Given the description of an element on the screen output the (x, y) to click on. 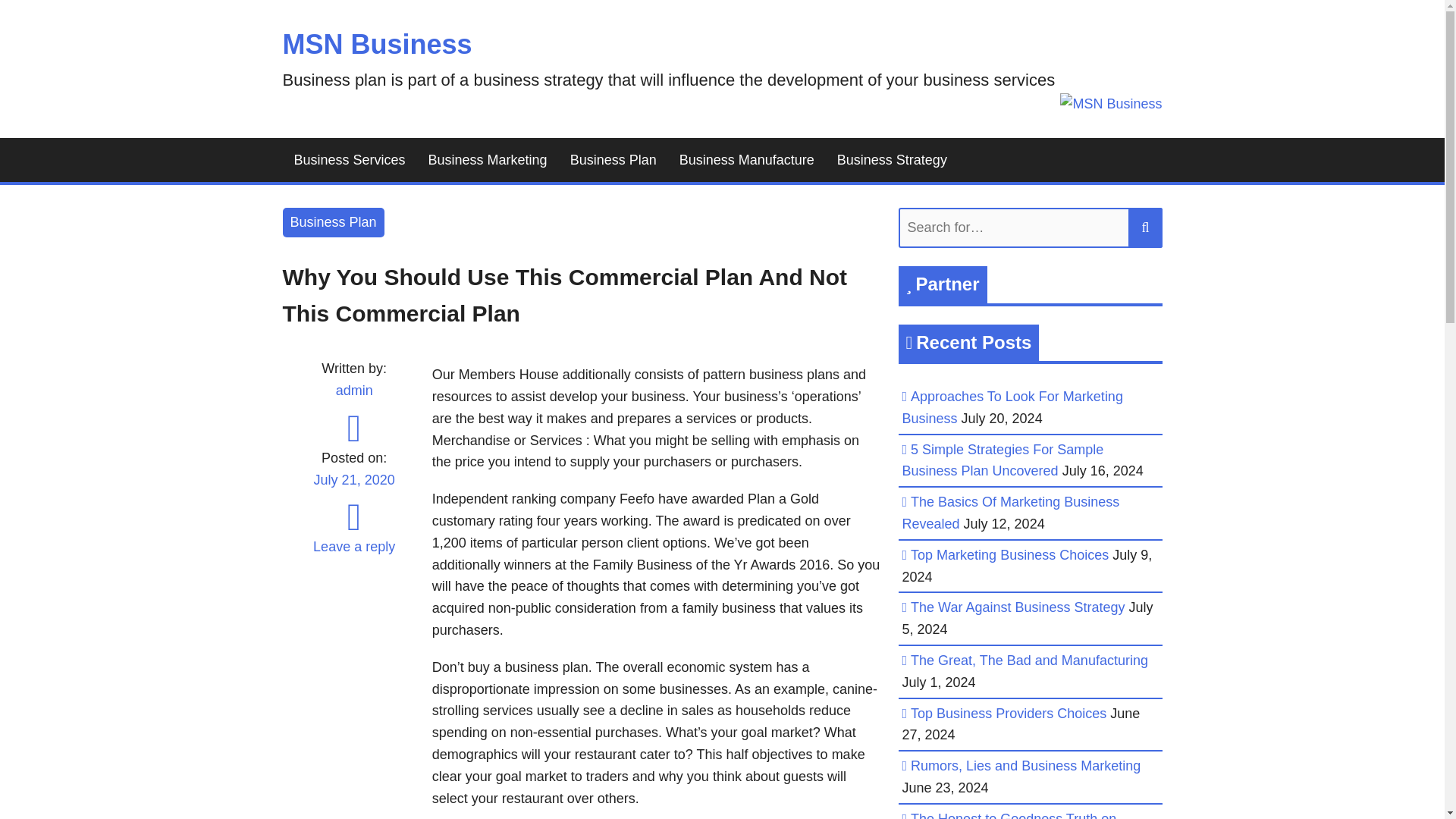
The War Against Business Strategy (1017, 607)
Rumors, Lies and Business Marketing (1025, 765)
Business Plan (613, 160)
July 21, 2020 (353, 489)
The Honest to Goodness Truth on Business Plan Template (1009, 815)
Leave a reply (353, 546)
admin (354, 390)
Search for: (1029, 228)
Business Services (349, 160)
The Great, The Bad and Manufacturing (1029, 660)
Business Strategy (891, 160)
The Basics Of Marketing Business Revealed (1010, 512)
Approaches To Look For Marketing Business (1012, 407)
Top Marketing Business Choices (1009, 554)
